Given the description of an element on the screen output the (x, y) to click on. 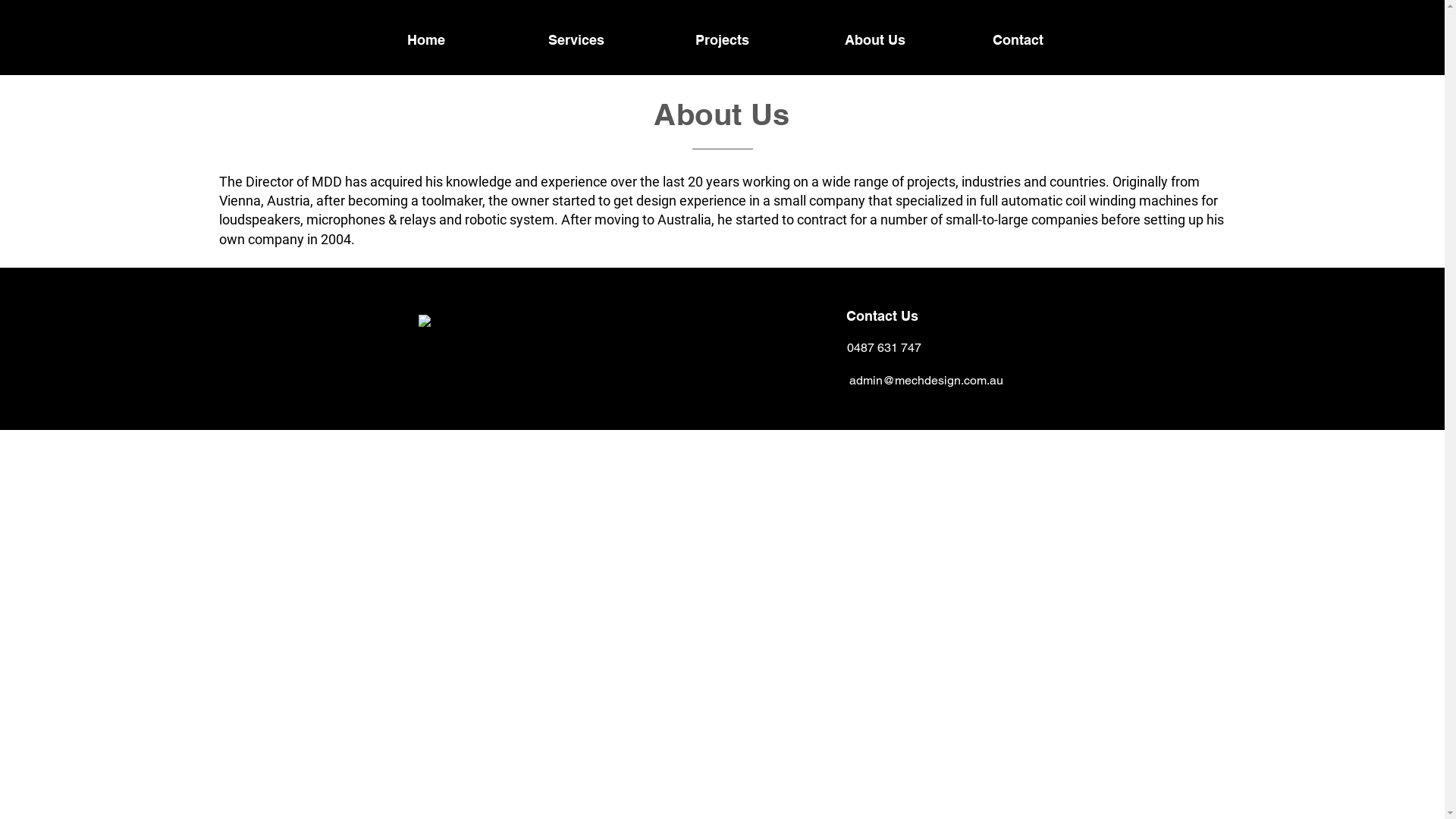
Contact Element type: text (1017, 39)
About Us Element type: text (874, 39)
Services Element type: text (575, 39)
admin@mechdesign.com.au Element type: text (926, 380)
Projects Element type: text (722, 39)
Home Element type: text (425, 39)
Contact Us Element type: text (882, 315)
